Given the description of an element on the screen output the (x, y) to click on. 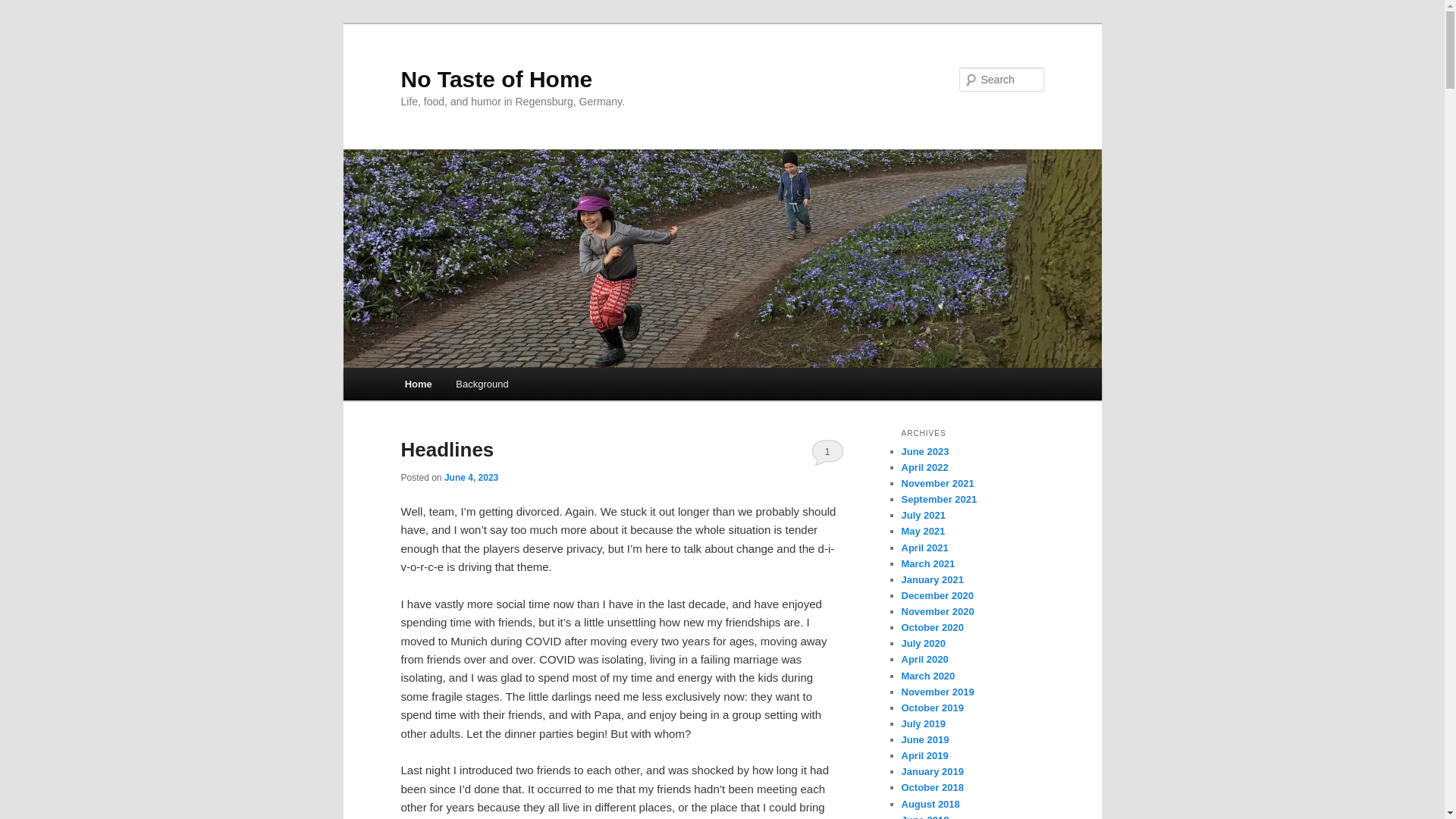
Skip to secondary content (479, 386)
Background (482, 383)
No Taste of Home (496, 78)
June 4, 2023 (470, 477)
Home (418, 383)
Skip to primary content (472, 386)
Headlines (446, 449)
1 (827, 452)
No Taste of Home (496, 78)
Skip to primary content (472, 386)
Search (24, 8)
Permalink to Headlines (446, 449)
10:15 am (470, 477)
Skip to secondary content (479, 386)
